Given the description of an element on the screen output the (x, y) to click on. 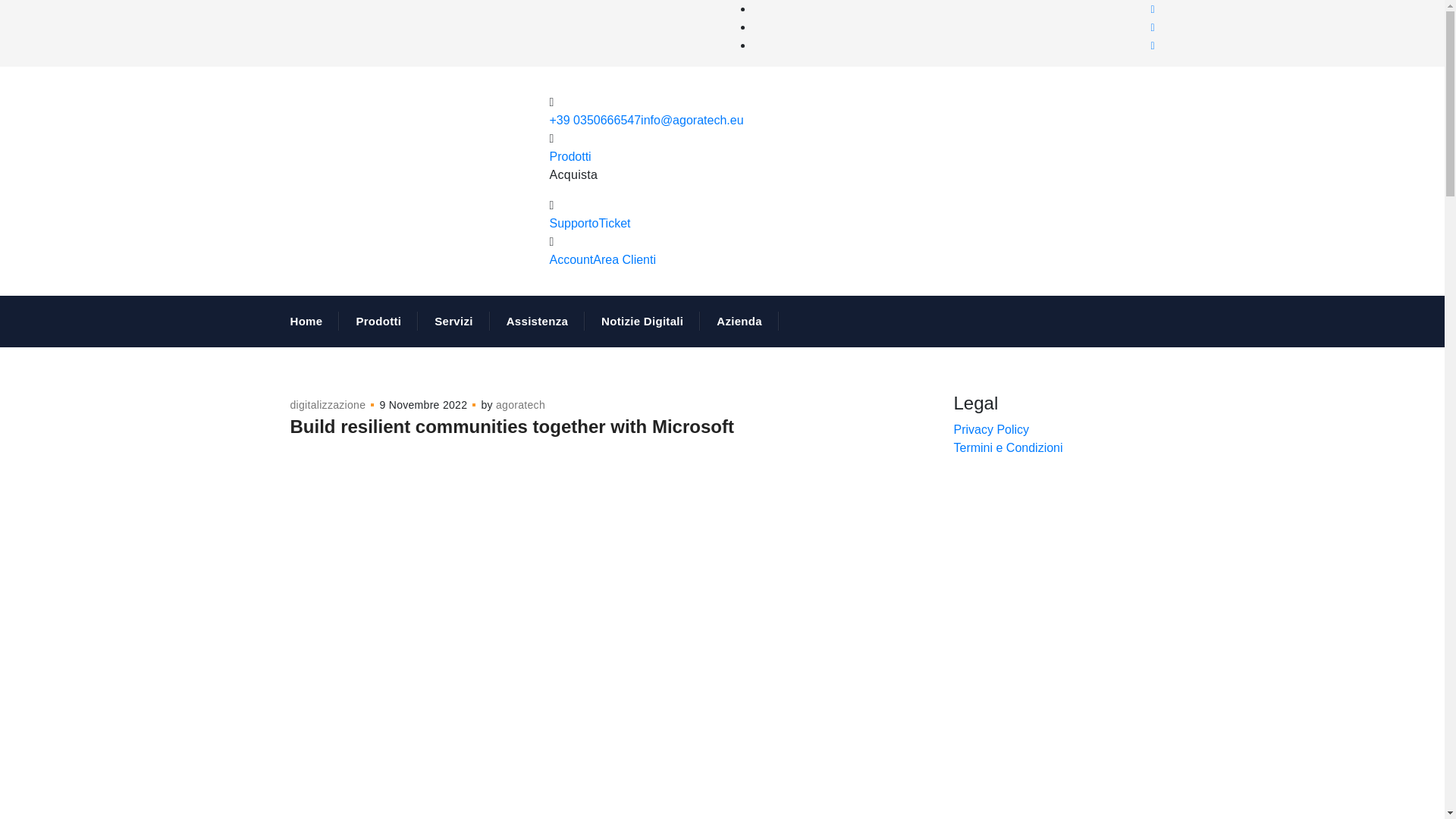
Area Clienti (624, 259)
Ticket (614, 223)
Account (570, 259)
Supporto (573, 223)
Privacy Policy  (991, 429)
Prodotti (569, 155)
Termini e Condizioni  (1007, 447)
